Given the description of an element on the screen output the (x, y) to click on. 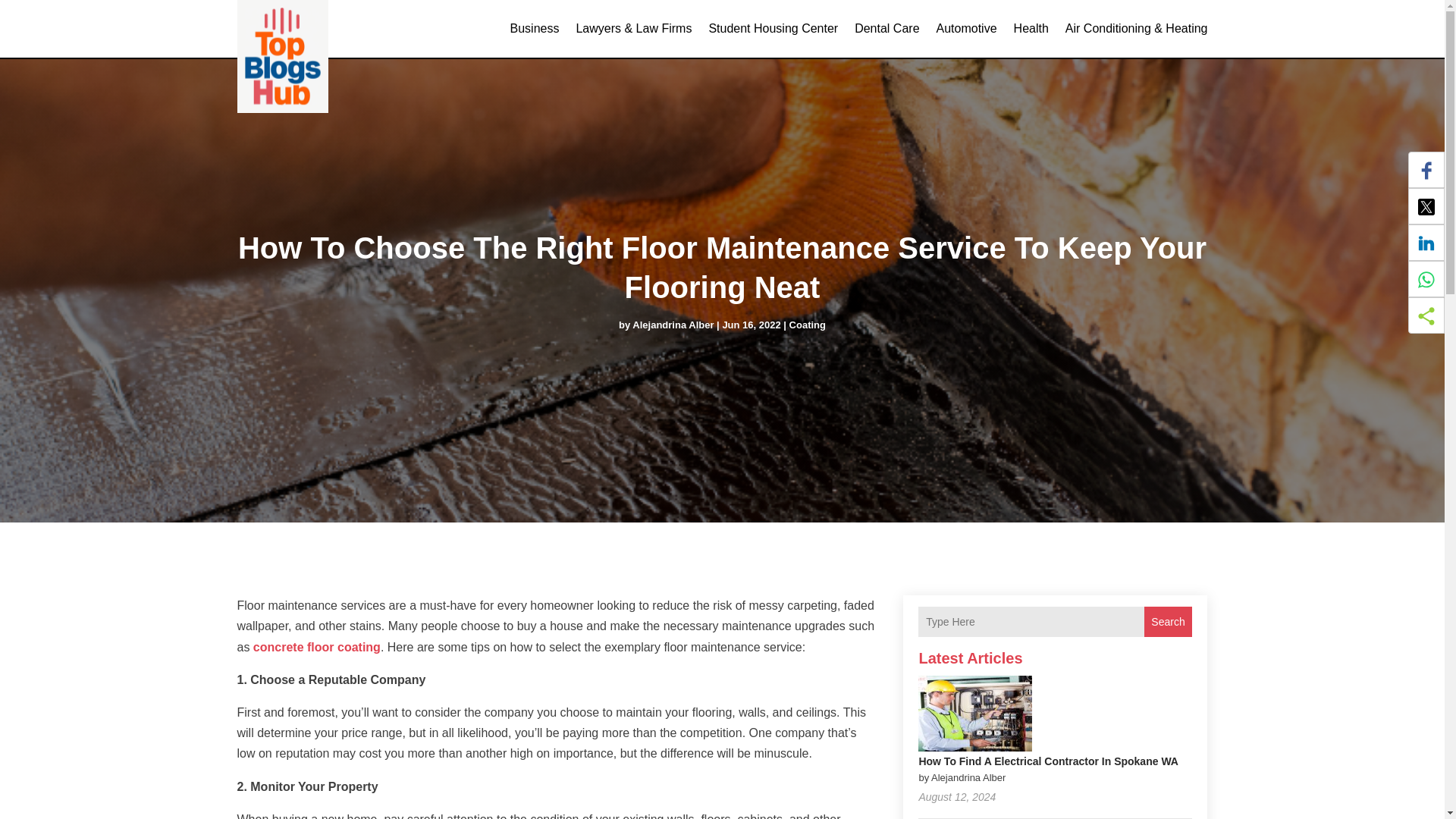
Coating (807, 324)
Dental Care (886, 28)
Automotive (966, 28)
Search (1168, 621)
concrete floor coating (316, 646)
How To Find A Electrical Contractor In Spokane WA (1047, 761)
Student Housing Center (772, 28)
Posts by Alejandrina Alber (672, 324)
Alejandrina Alber (672, 324)
